Given the description of an element on the screen output the (x, y) to click on. 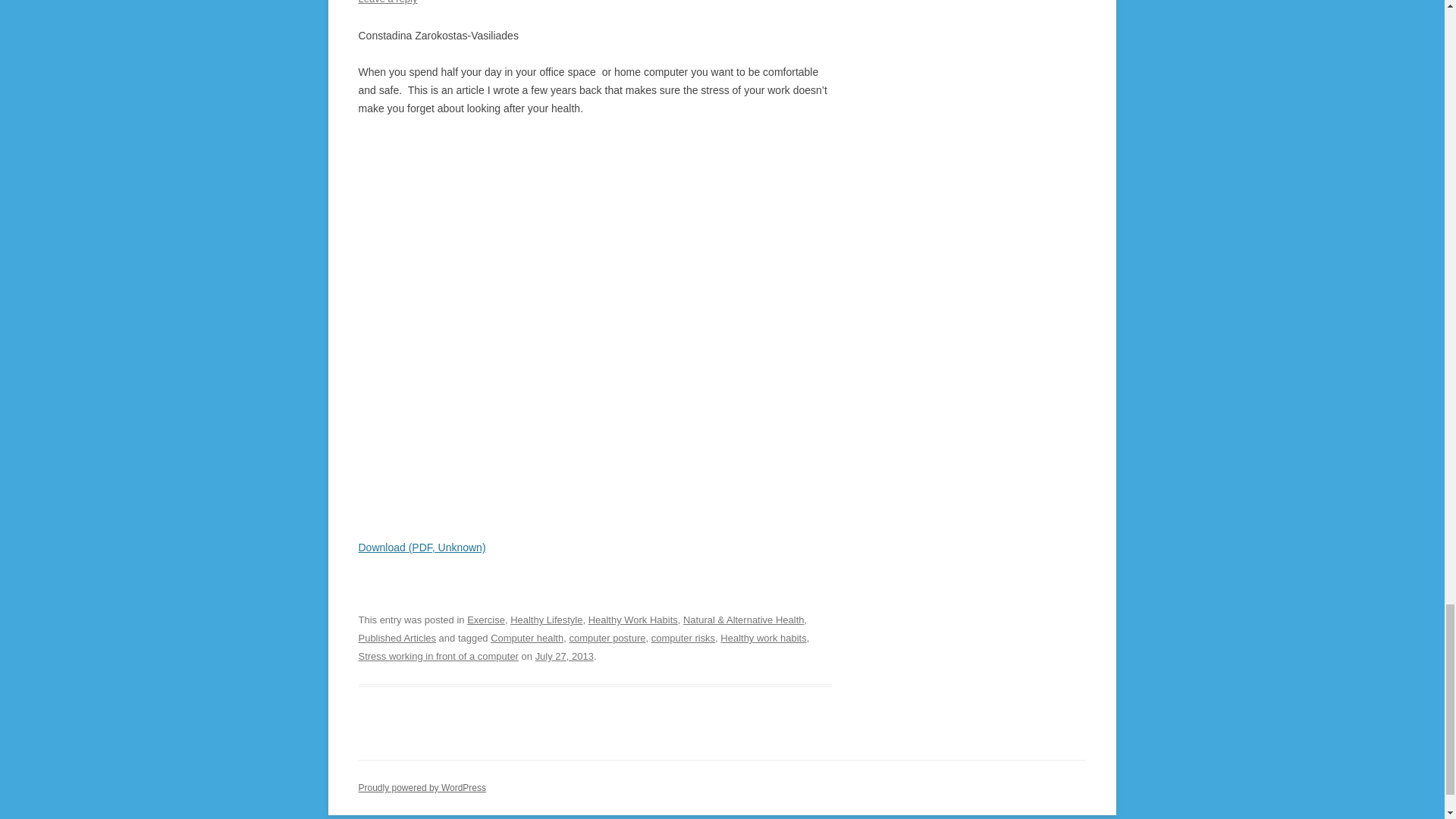
3:48 am (564, 655)
Semantic Personal Publishing Platform (422, 787)
